Given the description of an element on the screen output the (x, y) to click on. 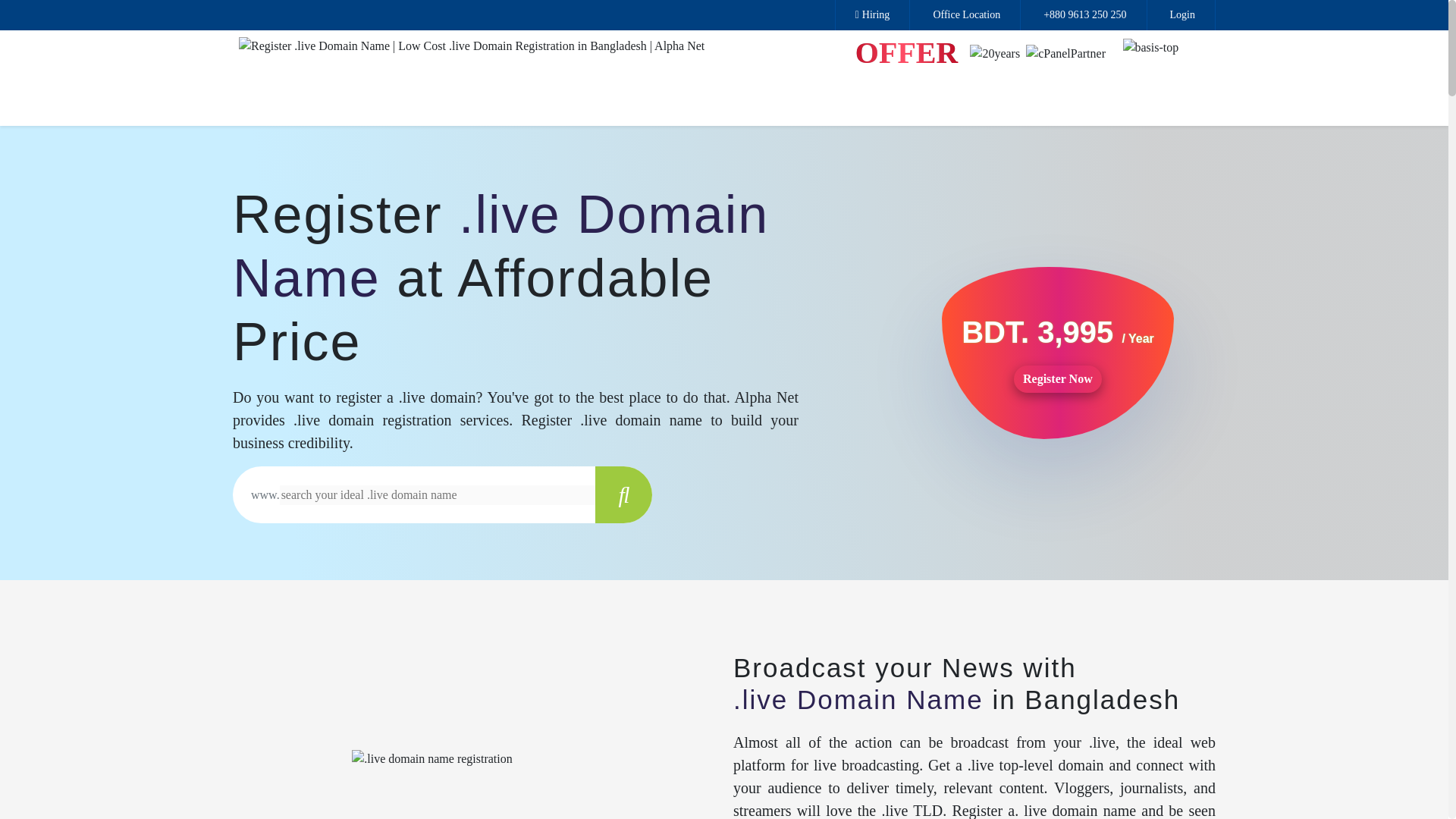
OFFER (907, 52)
Hiring (872, 15)
Office Location (965, 15)
Login (1180, 15)
